Given the description of an element on the screen output the (x, y) to click on. 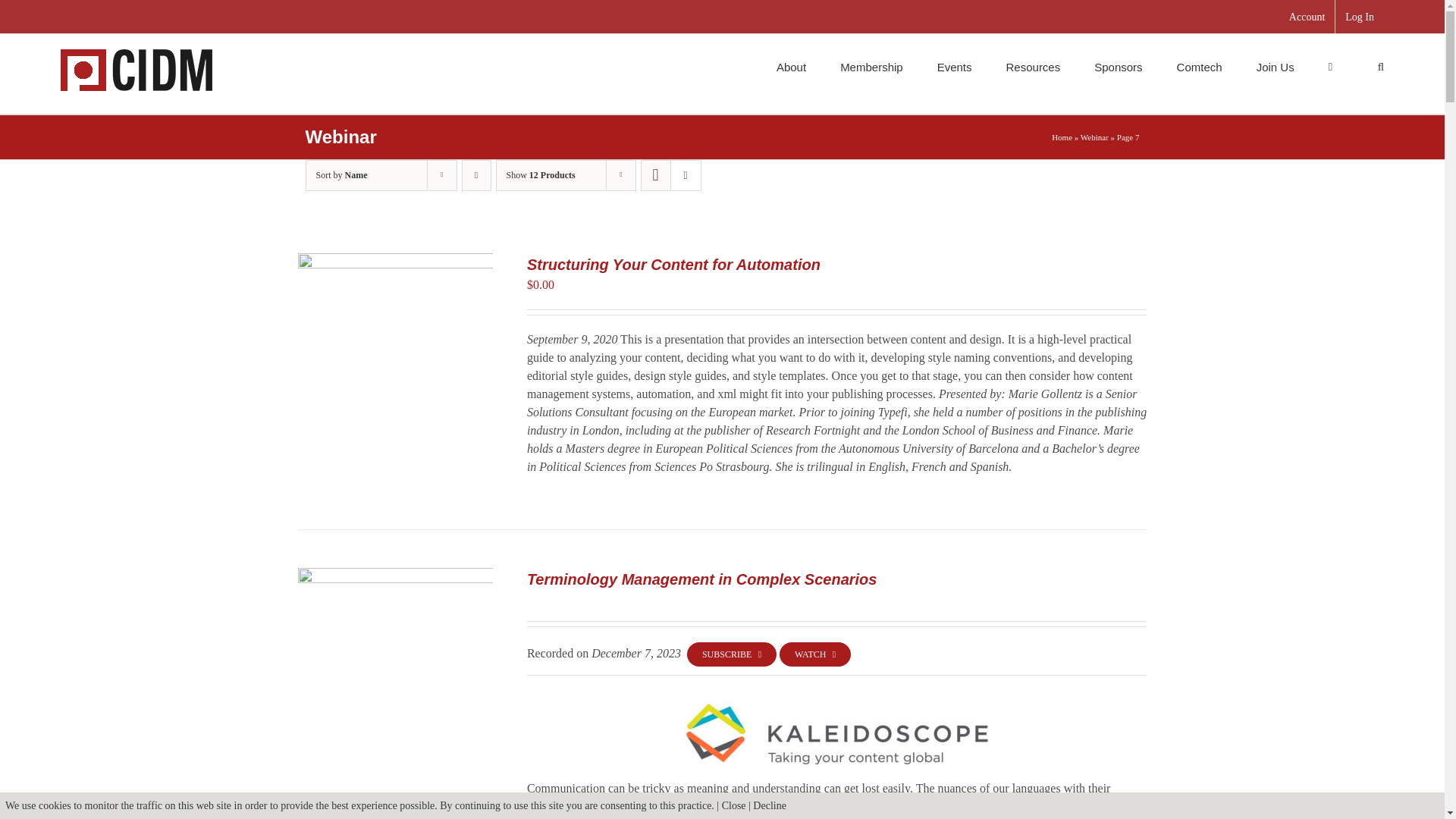
Membership (871, 65)
Account (1307, 16)
Log In (1359, 16)
